Given the description of an element on the screen output the (x, y) to click on. 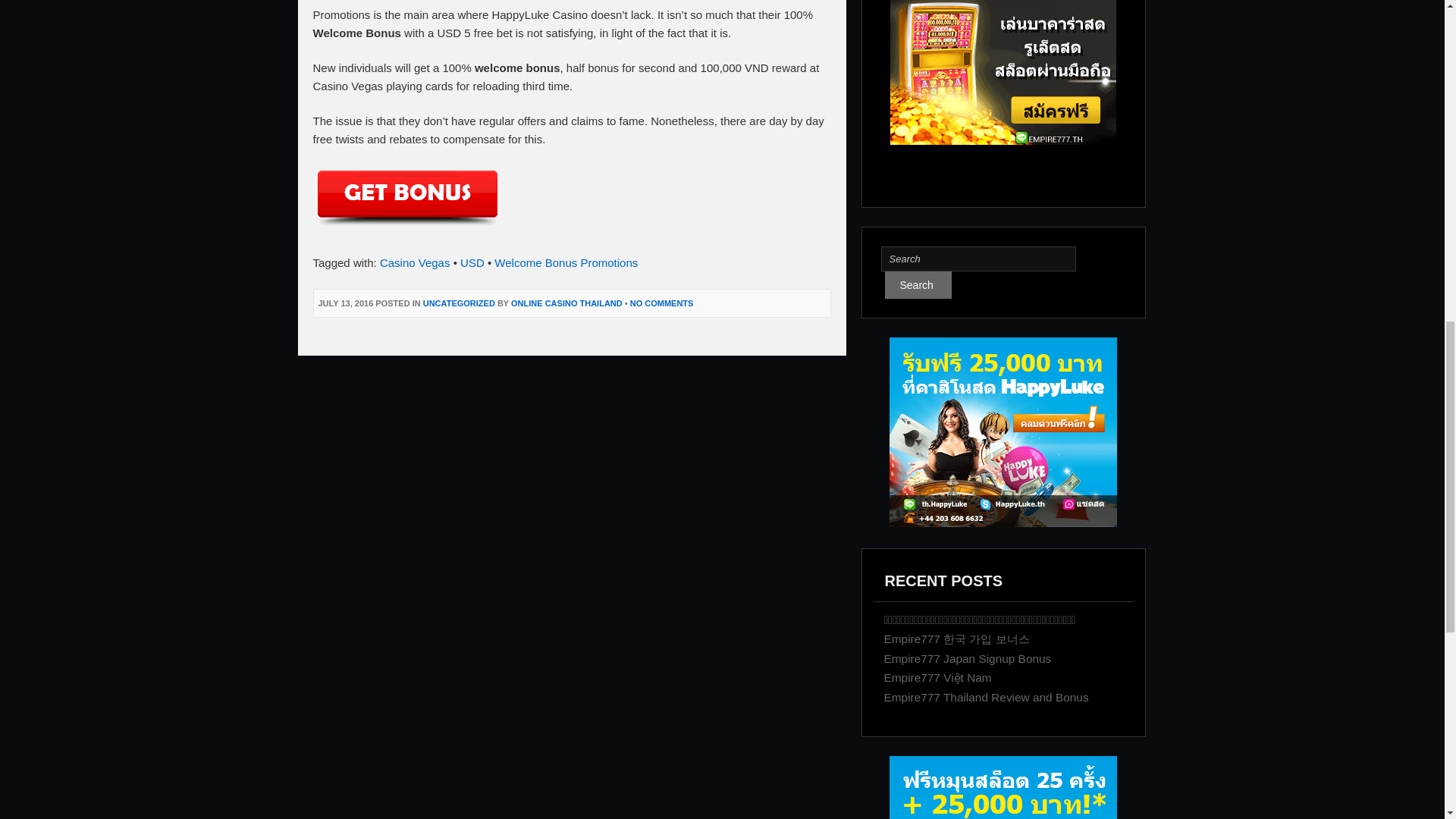
UNCATEGORIZED (459, 302)
ONLINE CASINO THAILAND (567, 302)
Search  (916, 284)
Search  (916, 284)
Search  (916, 284)
Posts by Online Casino Thailand (567, 302)
NO COMMENTS (662, 302)
Search (977, 258)
Empire777 Thailand Review and Bonus (986, 697)
Casino Vegas (414, 262)
Welcome Bonus Promotions (566, 262)
Search (977, 258)
Empire777 Japan Signup Bonus (967, 658)
USD (472, 262)
